Given the description of an element on the screen output the (x, y) to click on. 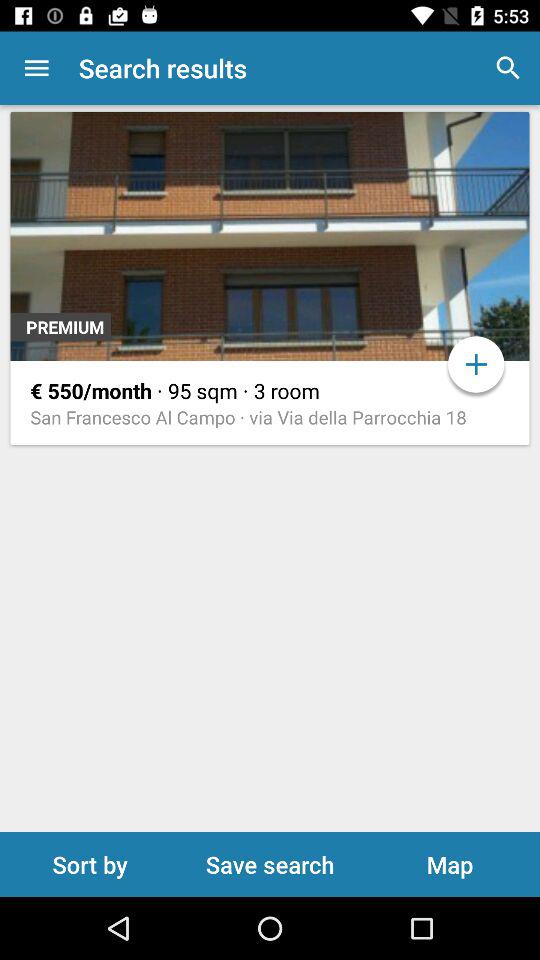
tap icon next to sort by item (270, 863)
